Given the description of an element on the screen output the (x, y) to click on. 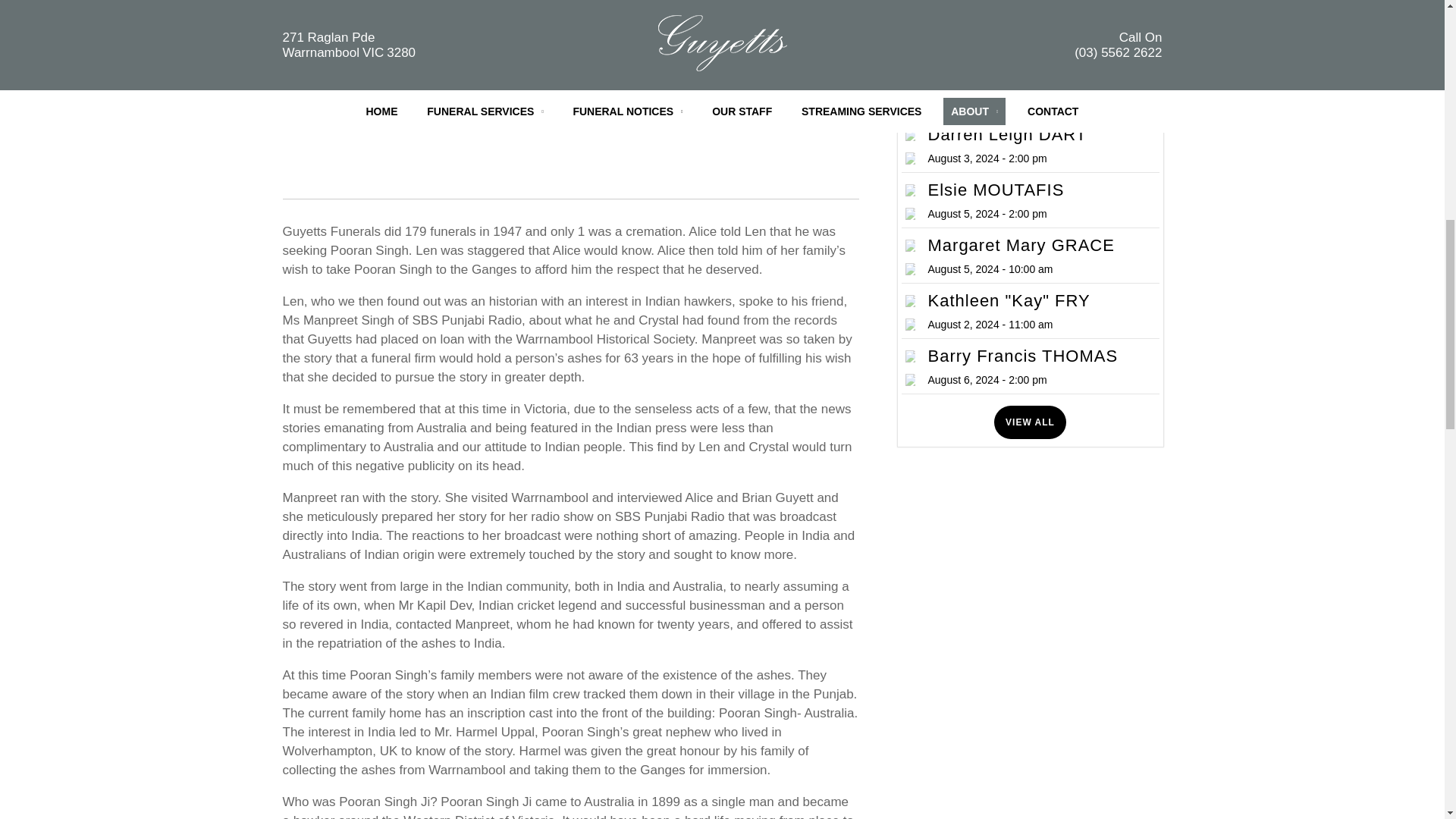
VIEW ALL (1030, 10)
